Given the description of an element on the screen output the (x, y) to click on. 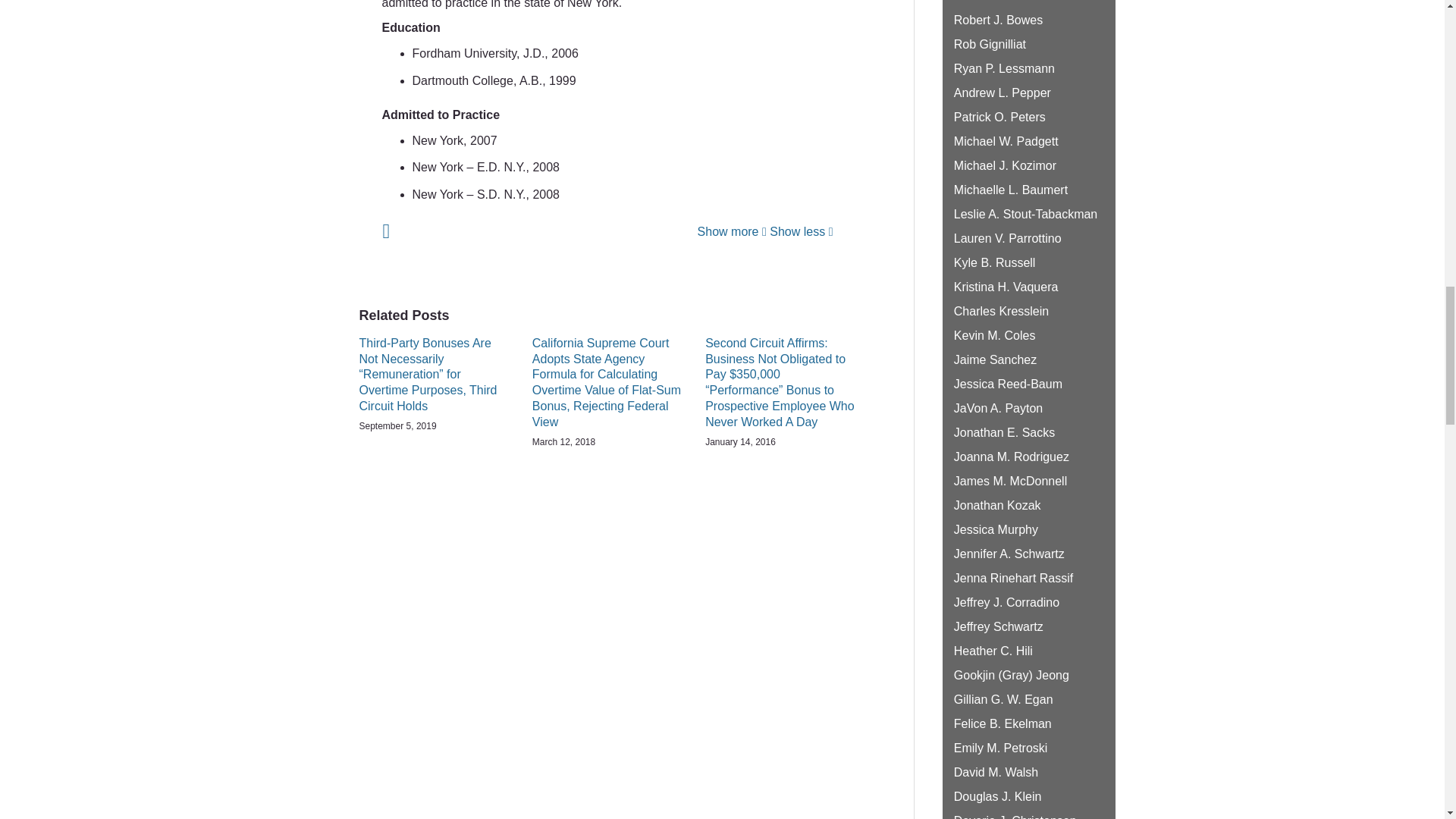
Show less (801, 231)
Show more (732, 231)
